Given the description of an element on the screen output the (x, y) to click on. 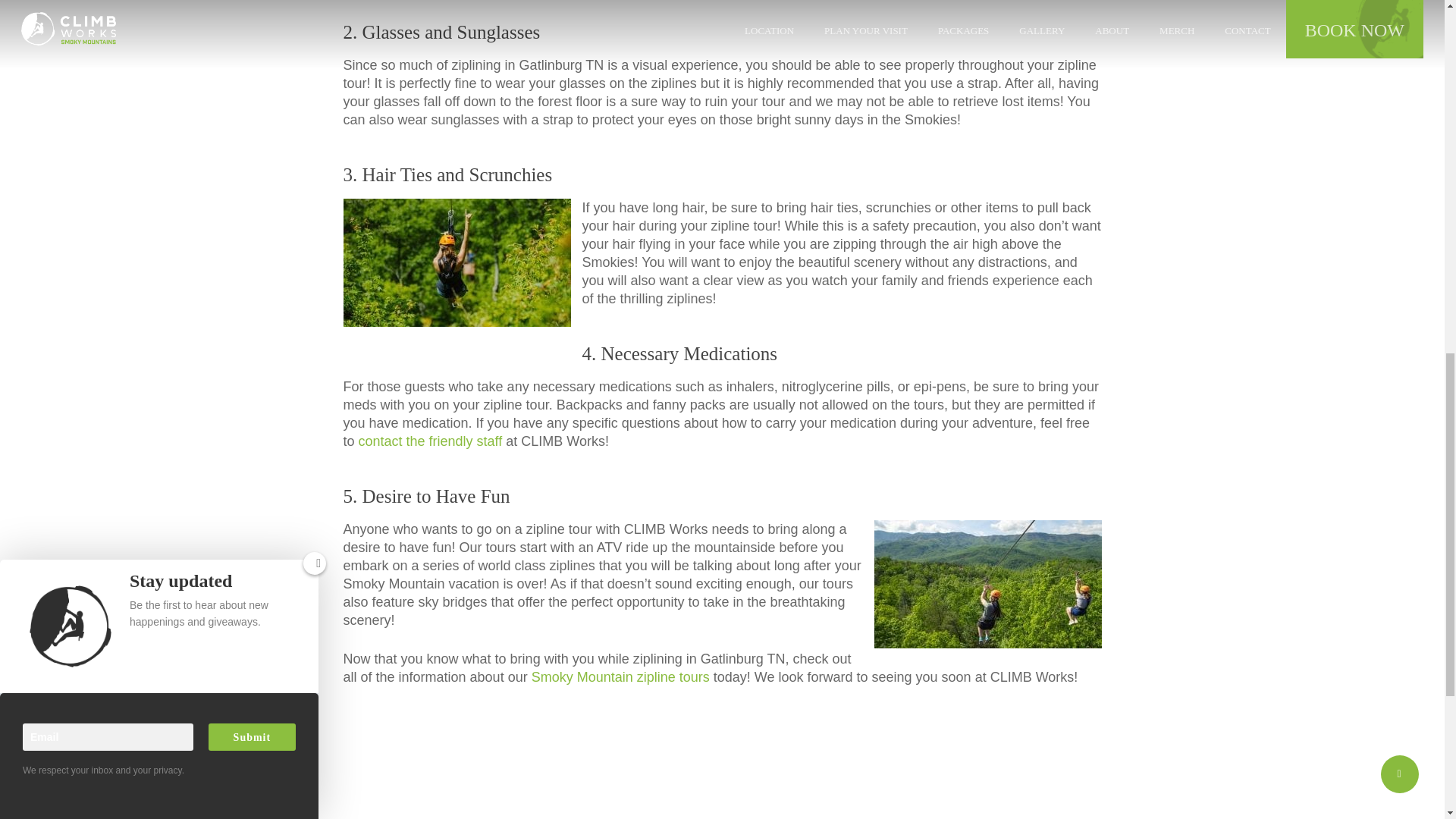
contact the friendly staff (430, 441)
Smoky Mountain zipline tours (620, 676)
